Given the description of an element on the screen output the (x, y) to click on. 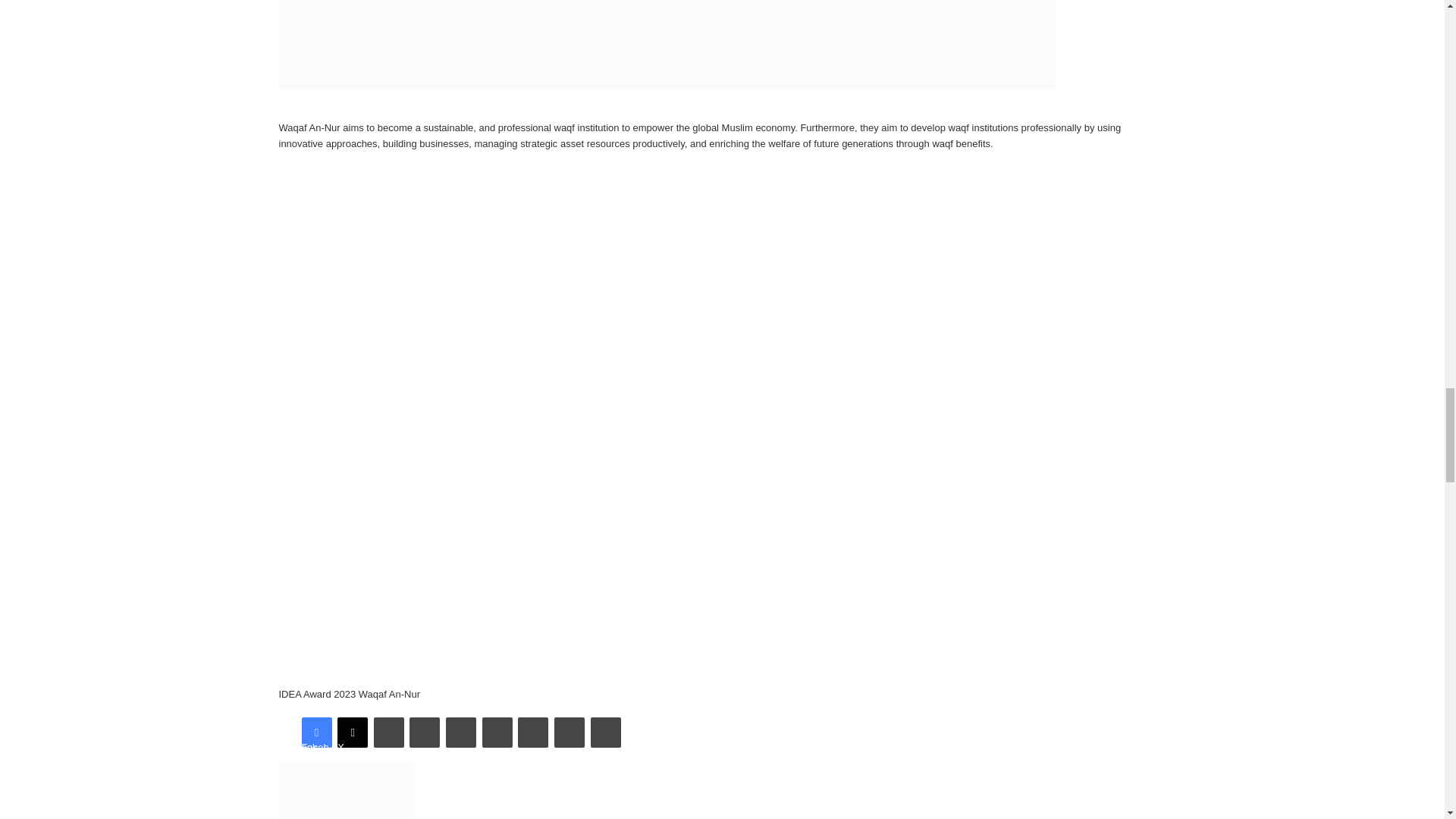
Pinterest (460, 732)
Tumblr (424, 732)
Facebook (316, 732)
LinkedIn (389, 732)
X (352, 732)
